Given the description of an element on the screen output the (x, y) to click on. 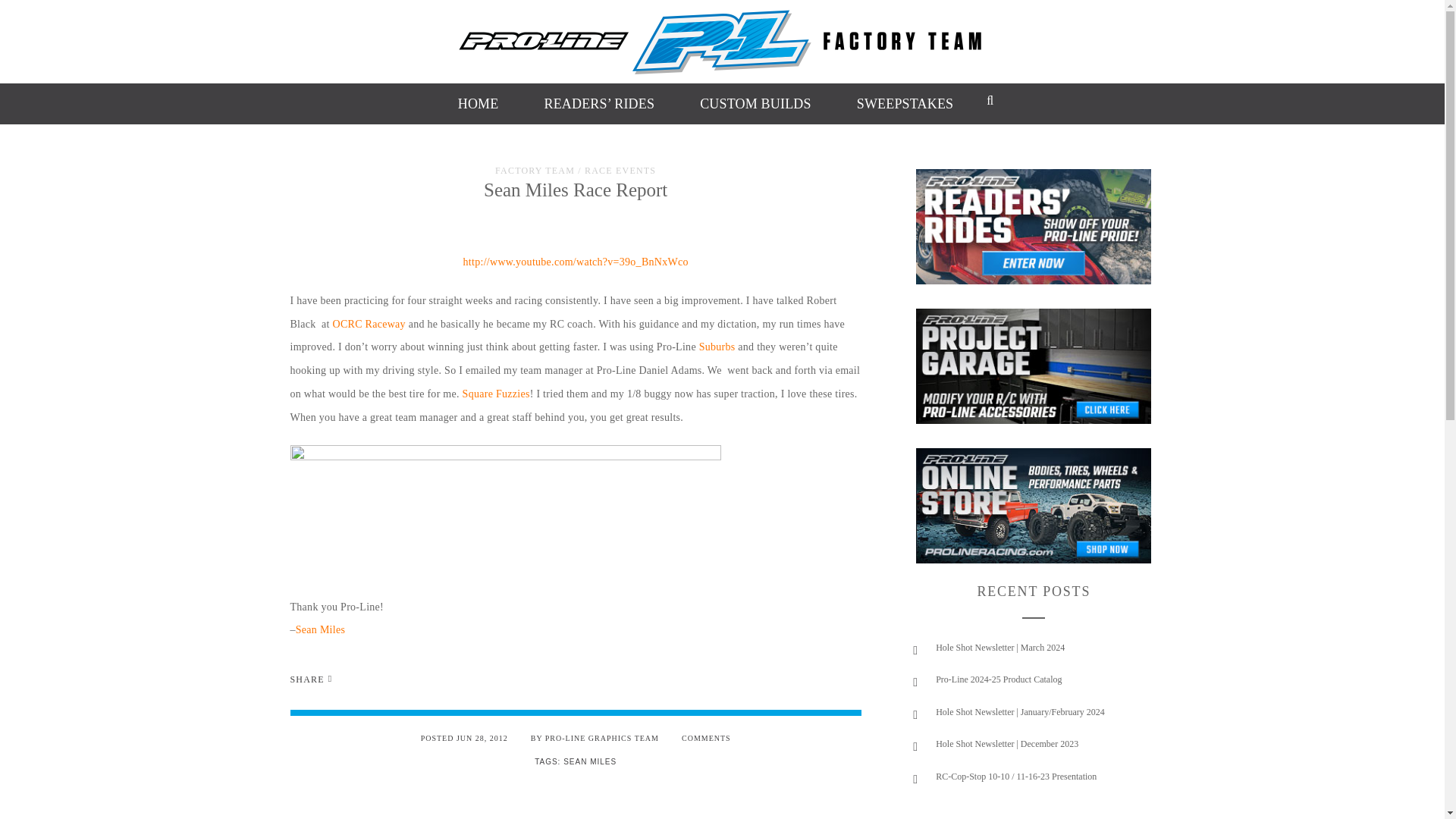
OCRC Raceway (369, 324)
COMMENTS (705, 737)
SEAN MILES (589, 761)
Sean Miles (320, 629)
RACE EVENTS (620, 170)
Pro-Line 2024-25 Product Catalog (998, 679)
SWEEPSTAKES (905, 103)
HOME (478, 103)
CUSTOM BUILDS (755, 103)
Square Fuzzies (496, 393)
